Given the description of an element on the screen output the (x, y) to click on. 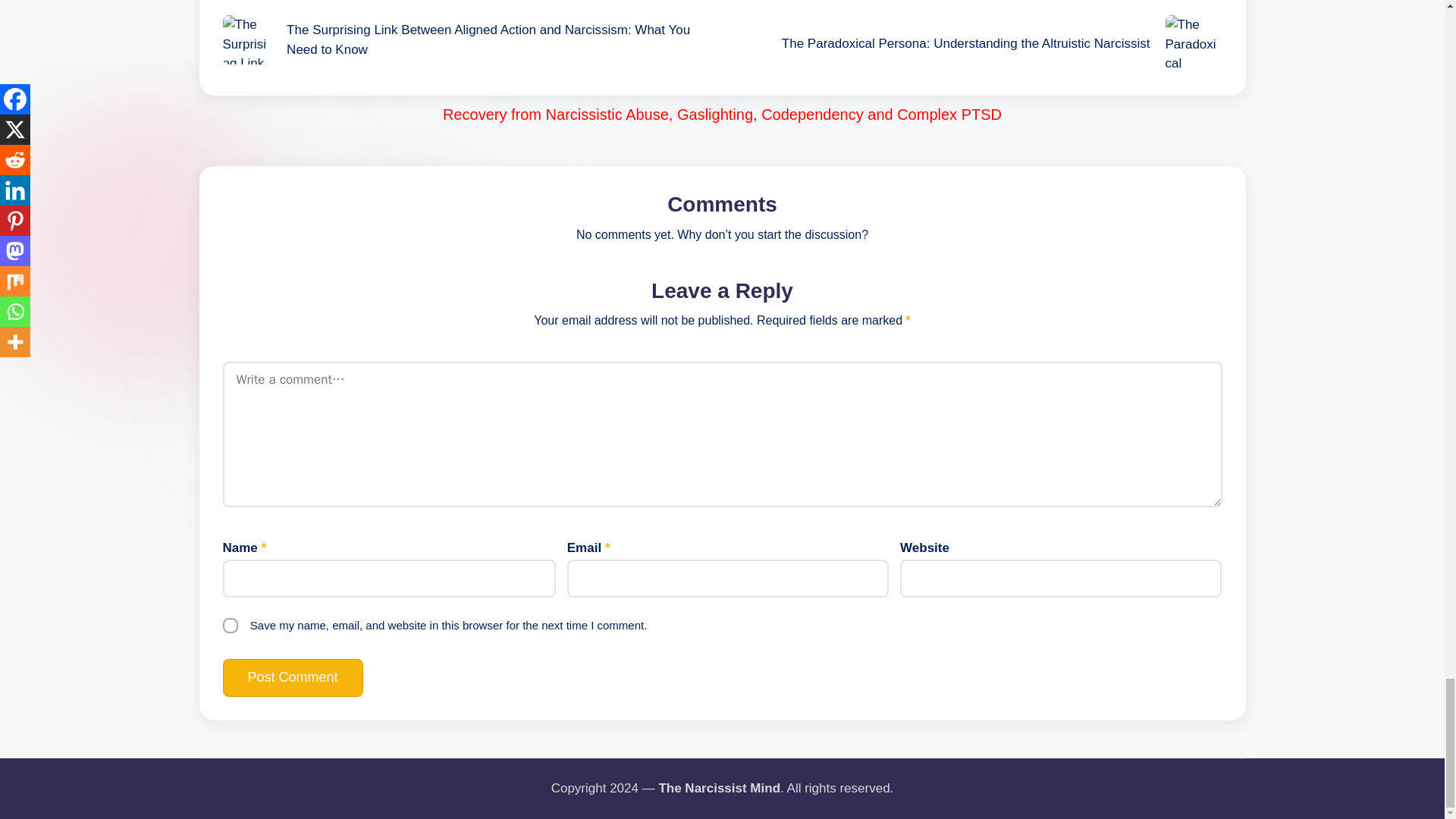
Post Comment (292, 677)
yes (230, 625)
